Given the description of an element on the screen output the (x, y) to click on. 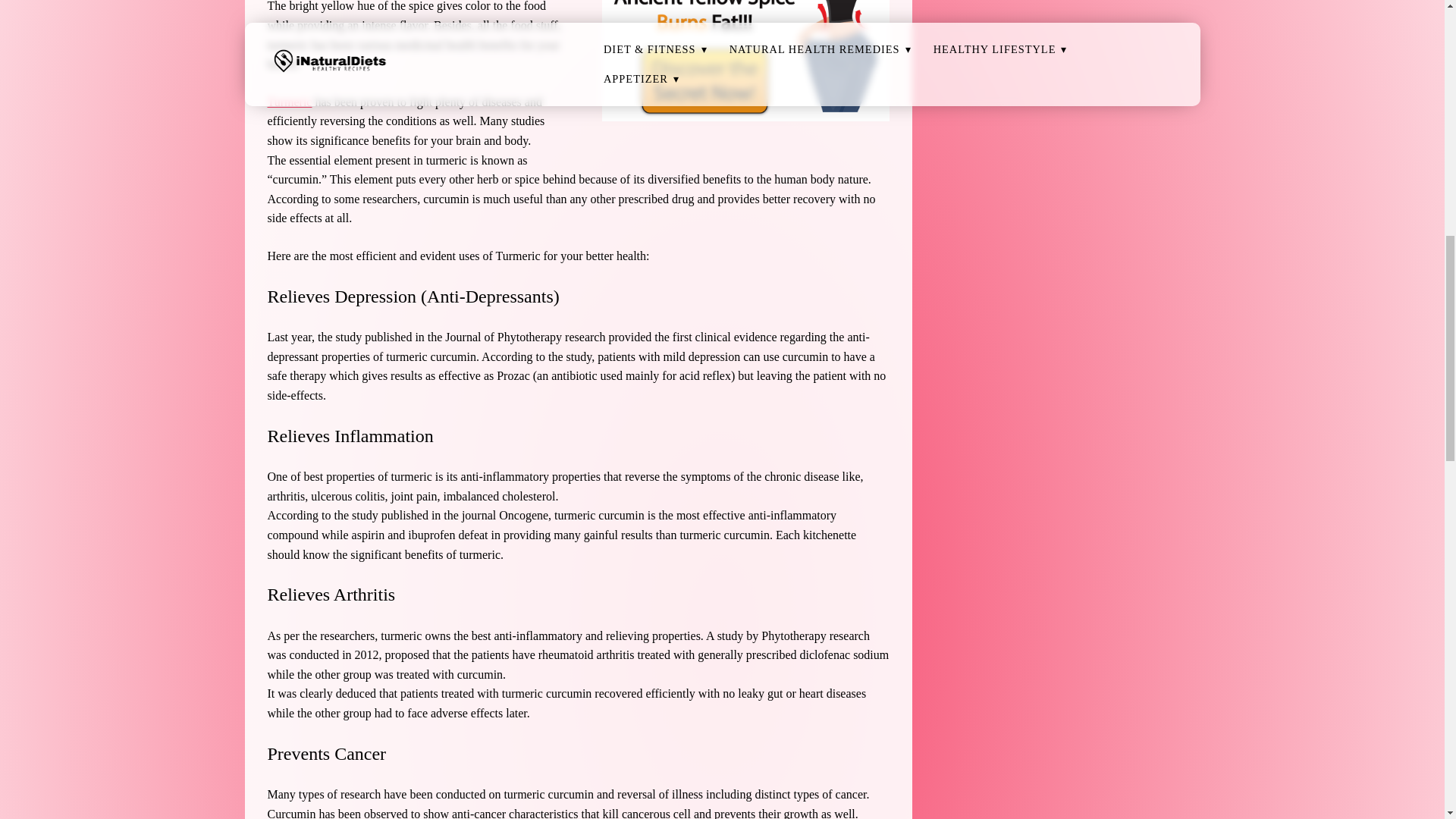
Turmeric (288, 101)
